Given the description of an element on the screen output the (x, y) to click on. 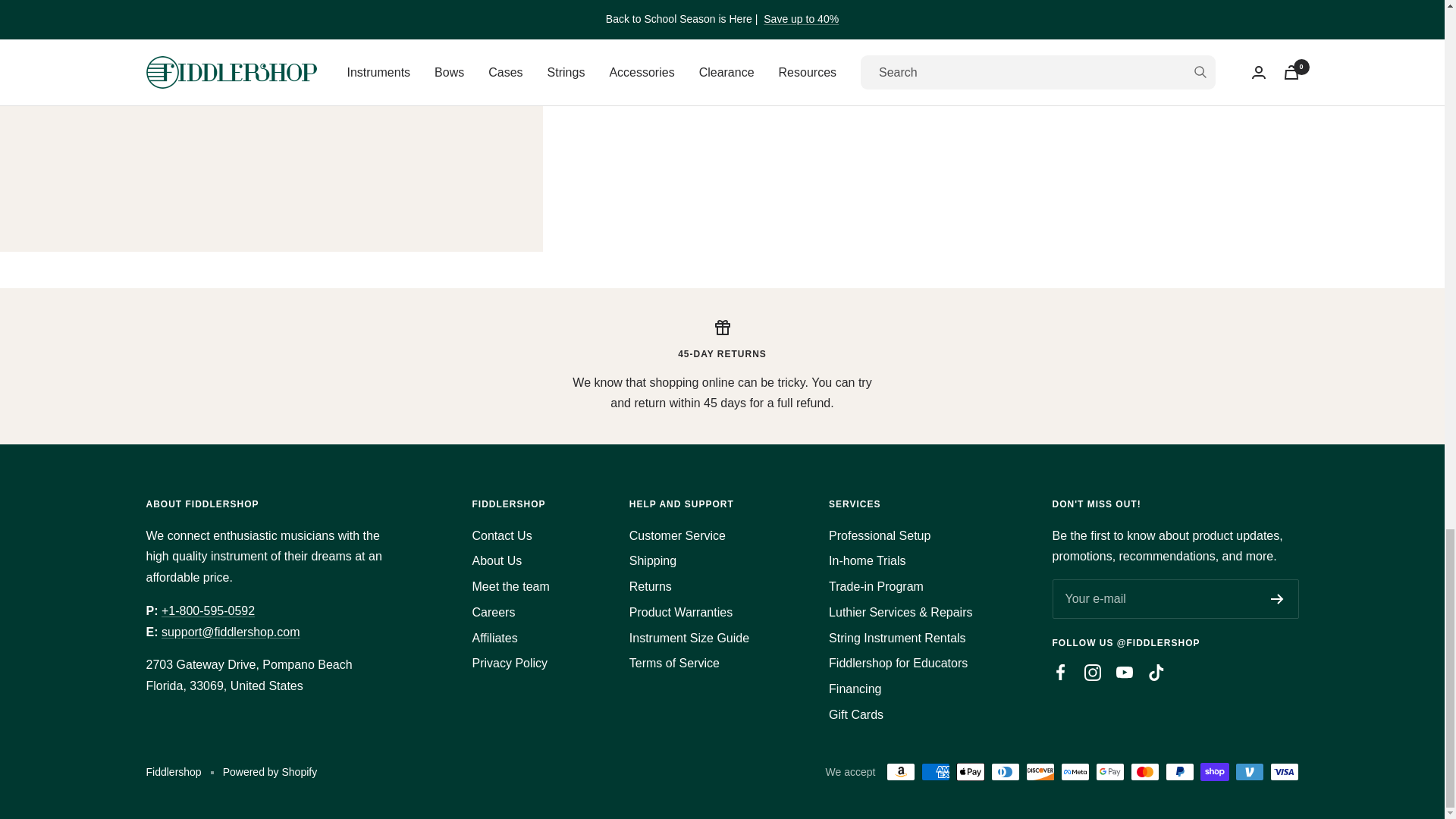
Fiddlershop Customer Support Email (230, 631)
tel:18005950592 (207, 610)
Register (1277, 598)
